Given the description of an element on the screen output the (x, y) to click on. 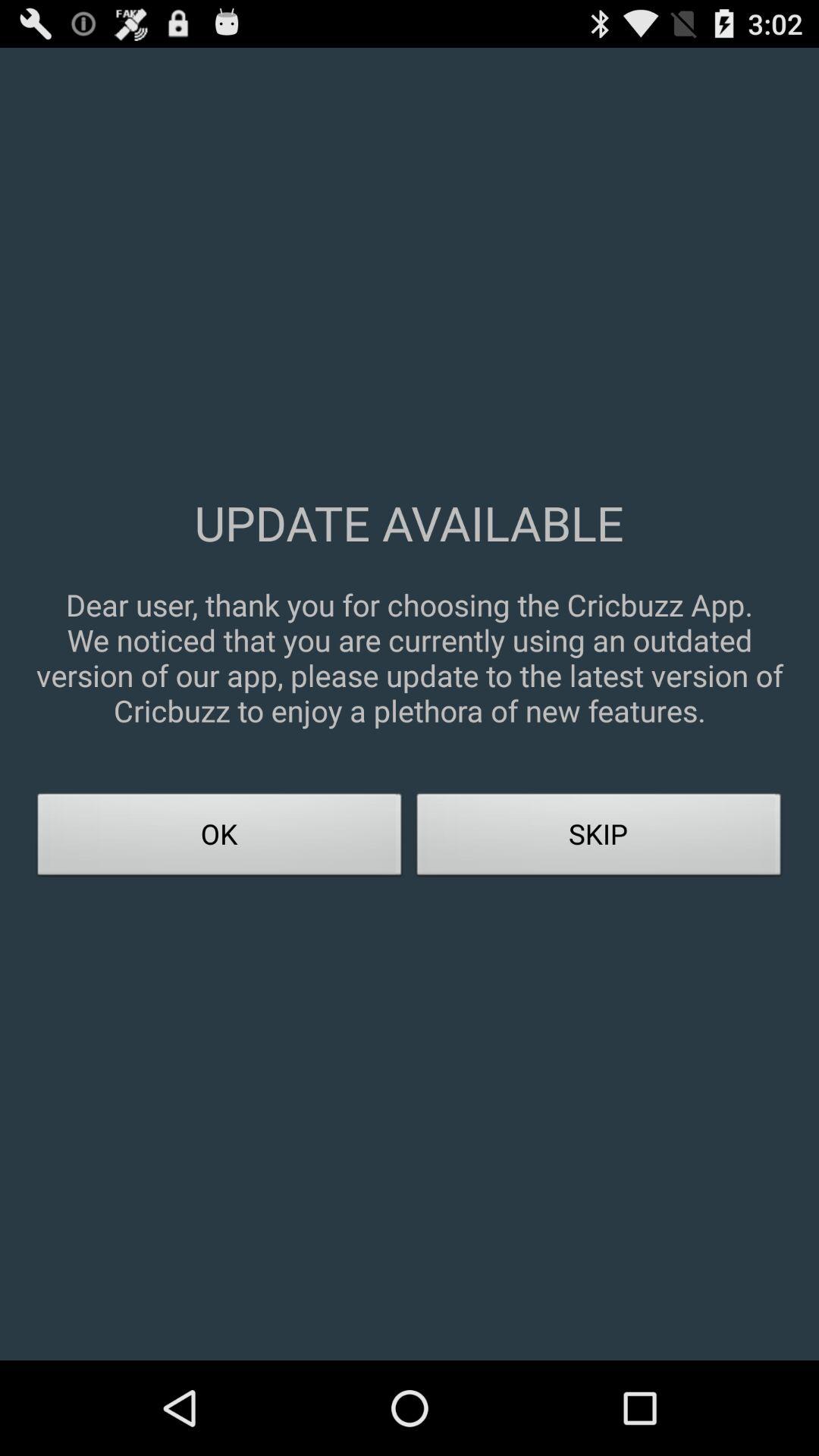
open the icon next to skip item (219, 838)
